Given the description of an element on the screen output the (x, y) to click on. 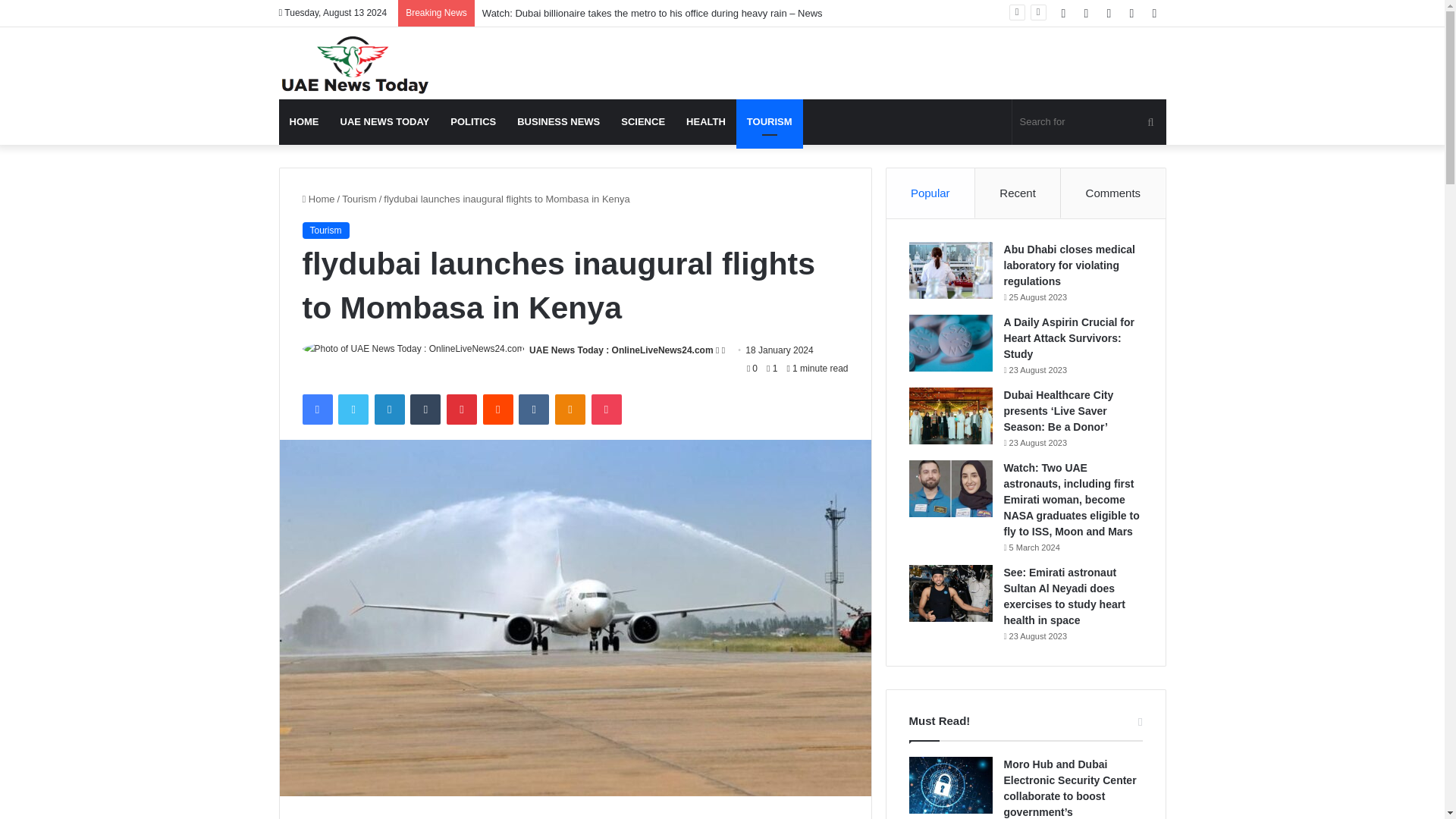
HOME (304, 121)
POLITICS (472, 121)
Reddit (498, 409)
Twitter (352, 409)
Facebook (316, 409)
LinkedIn (389, 409)
LinkedIn (389, 409)
Tumblr (425, 409)
BUSINESS NEWS (558, 121)
Pinterest (461, 409)
